Given the description of an element on the screen output the (x, y) to click on. 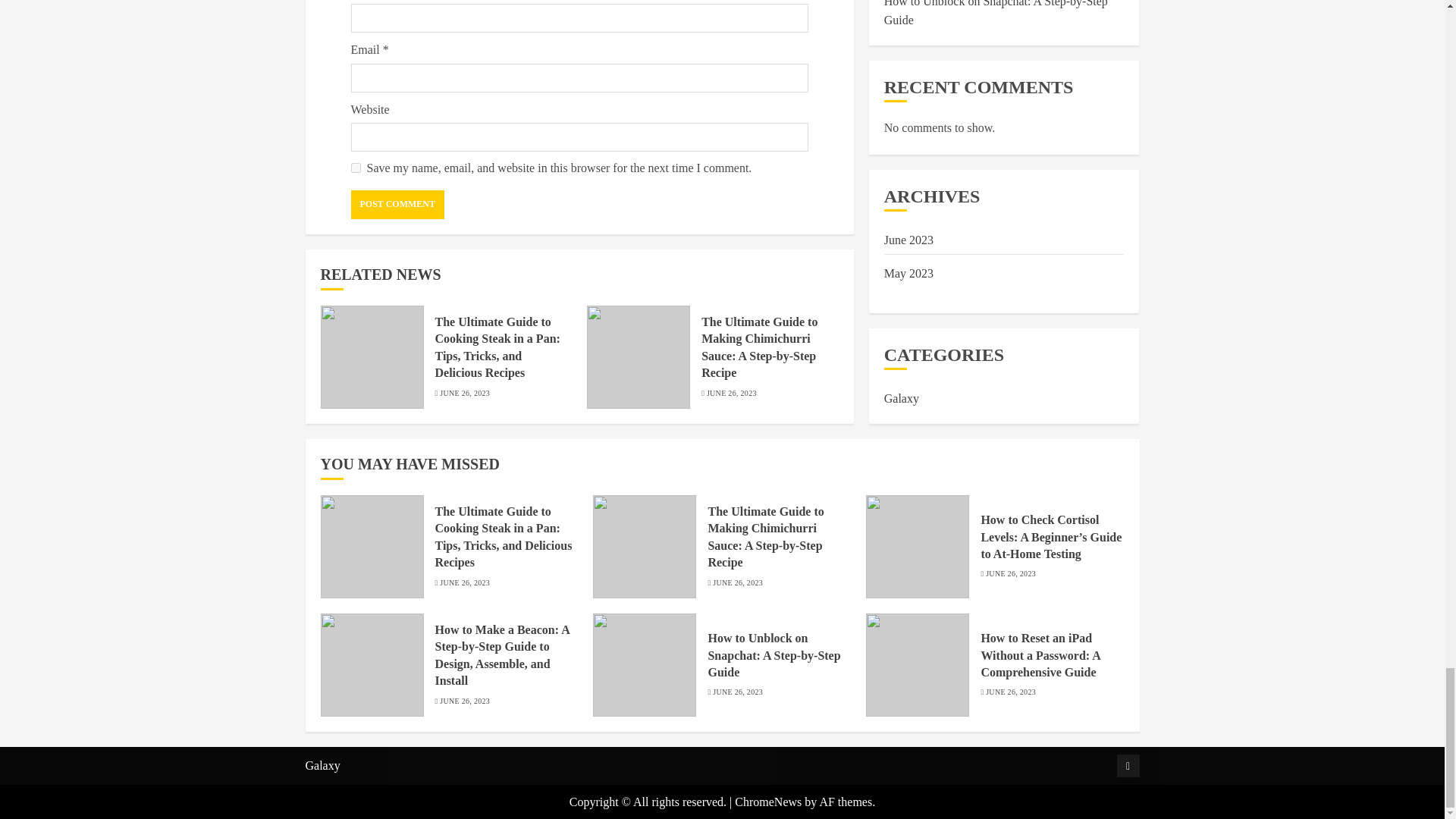
Post Comment (397, 204)
JUNE 26, 2023 (731, 393)
yes (354, 167)
Post Comment (397, 204)
JUNE 26, 2023 (464, 393)
